Given the description of an element on the screen output the (x, y) to click on. 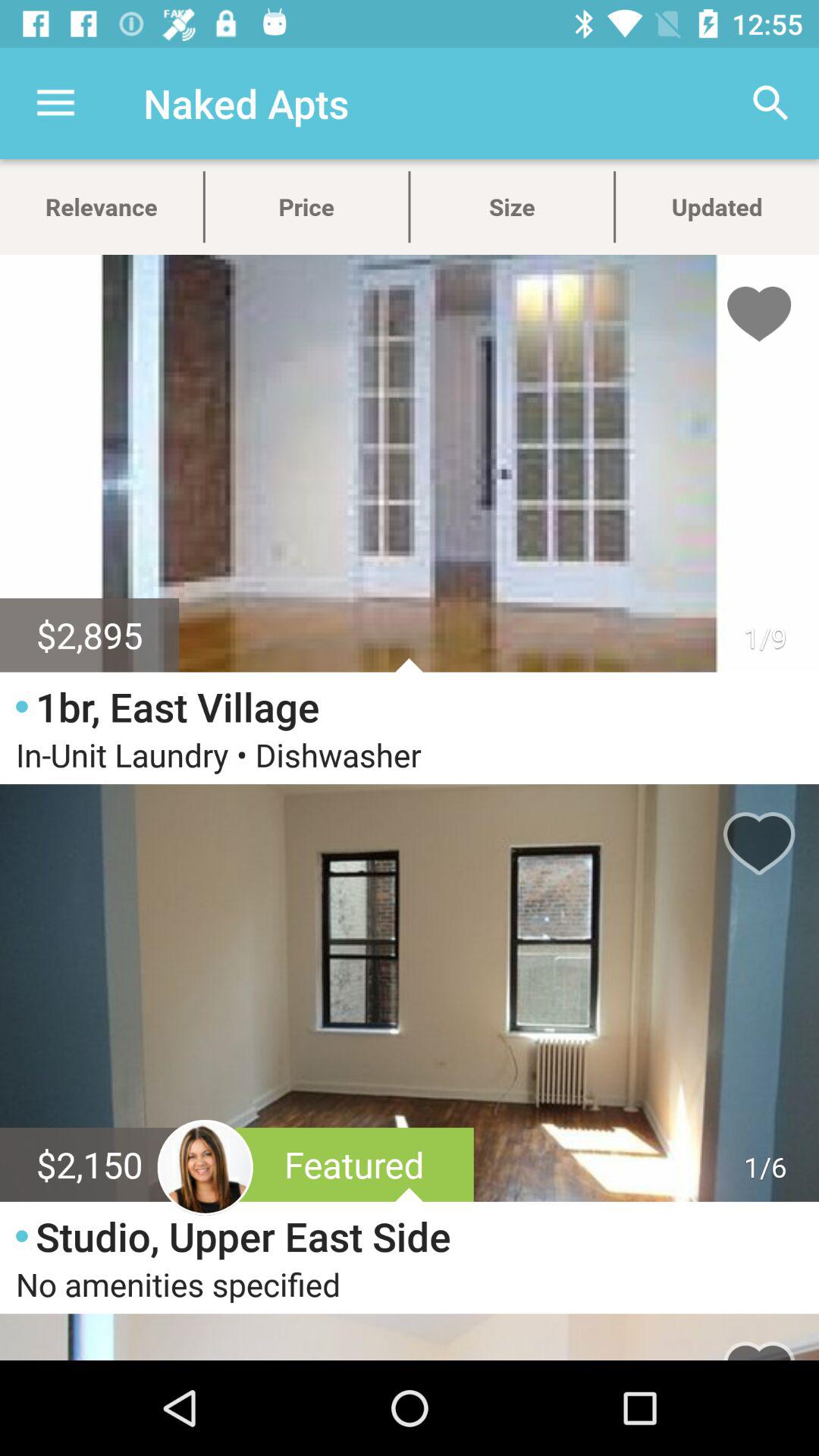
launch the updated (716, 206)
